Given the description of an element on the screen output the (x, y) to click on. 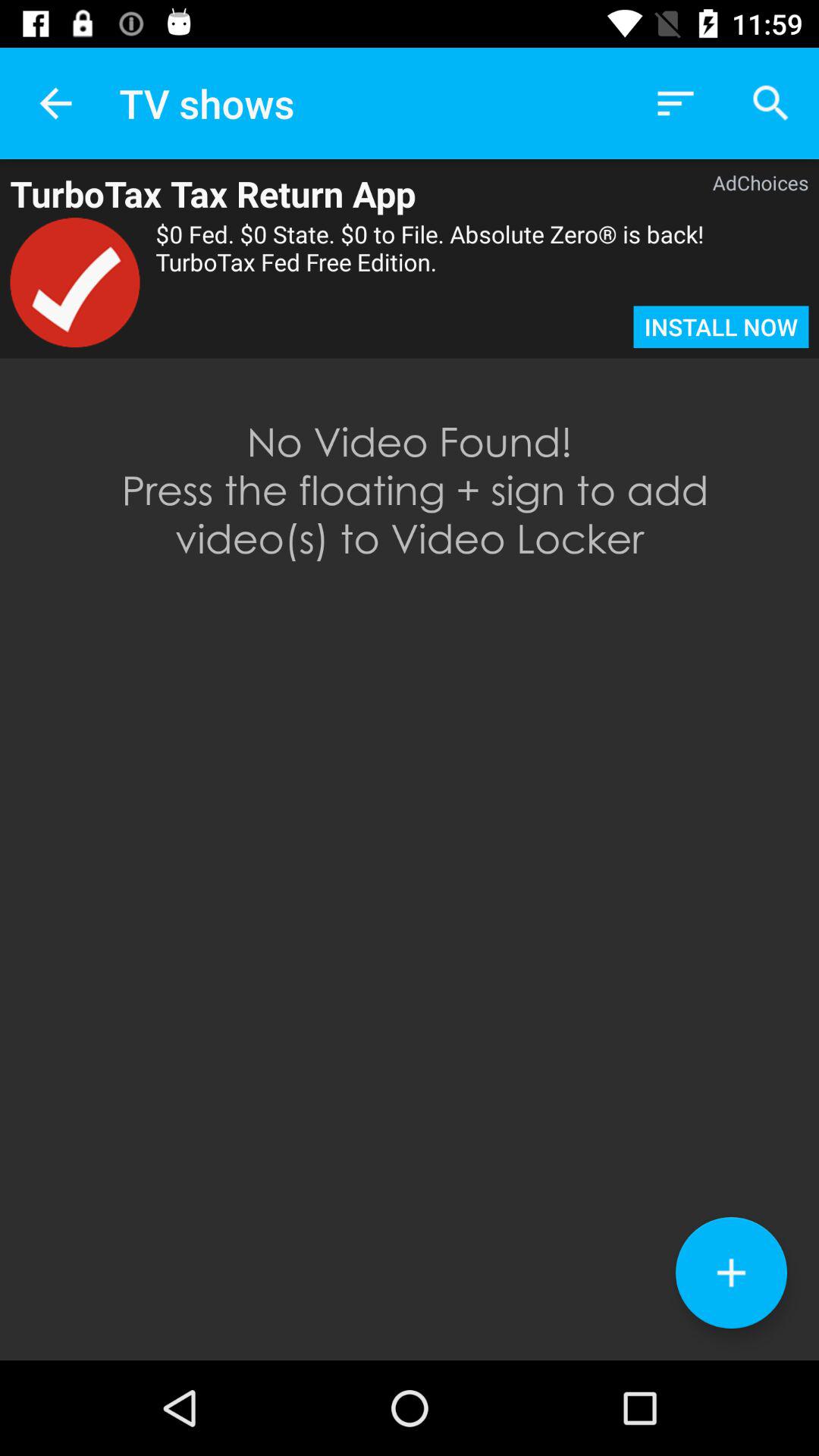
add to own collection (731, 1272)
